Given the description of an element on the screen output the (x, y) to click on. 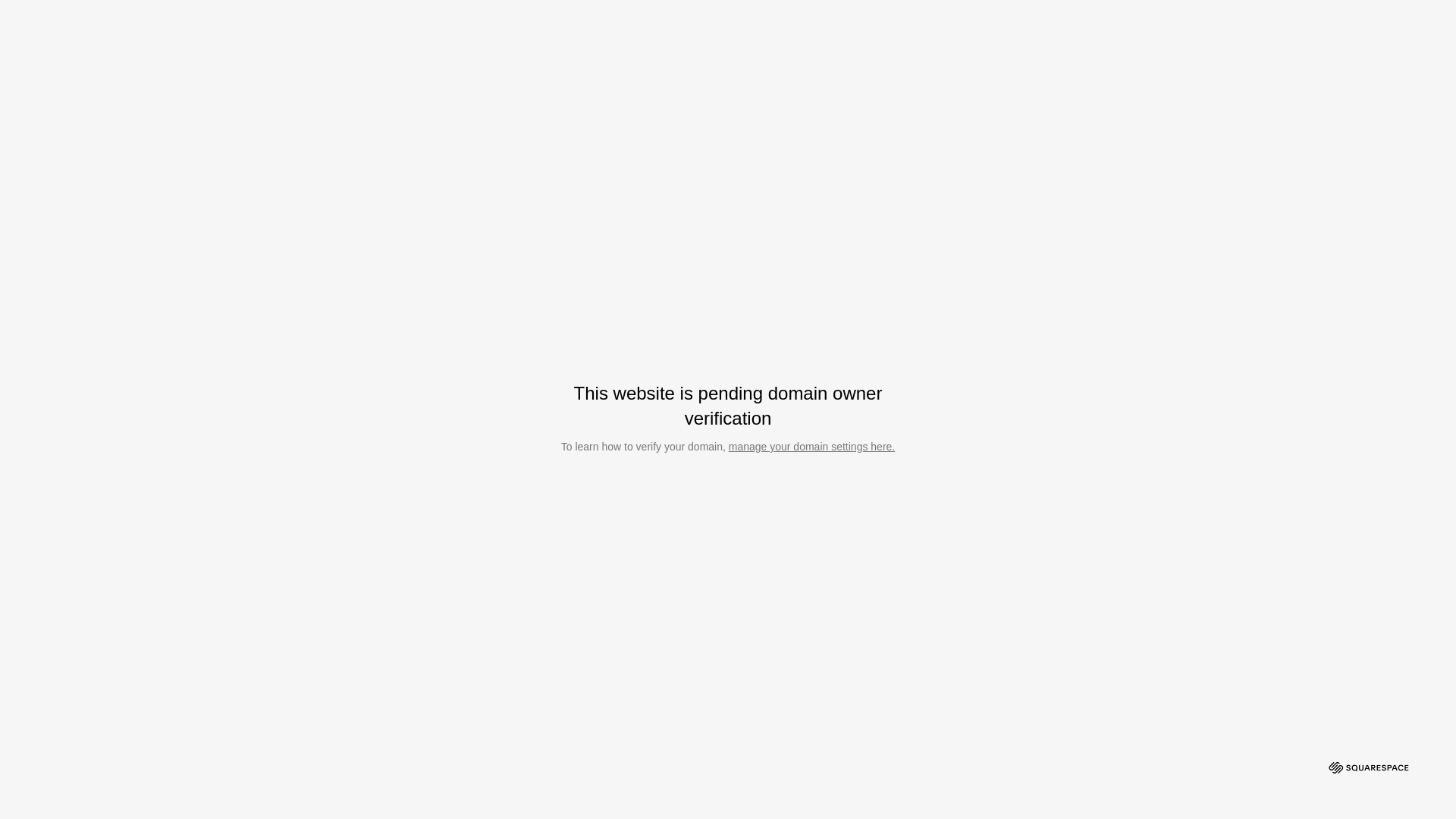
manage your domain settings here. Element type: text (811, 446)
